Given the description of an element on the screen output the (x, y) to click on. 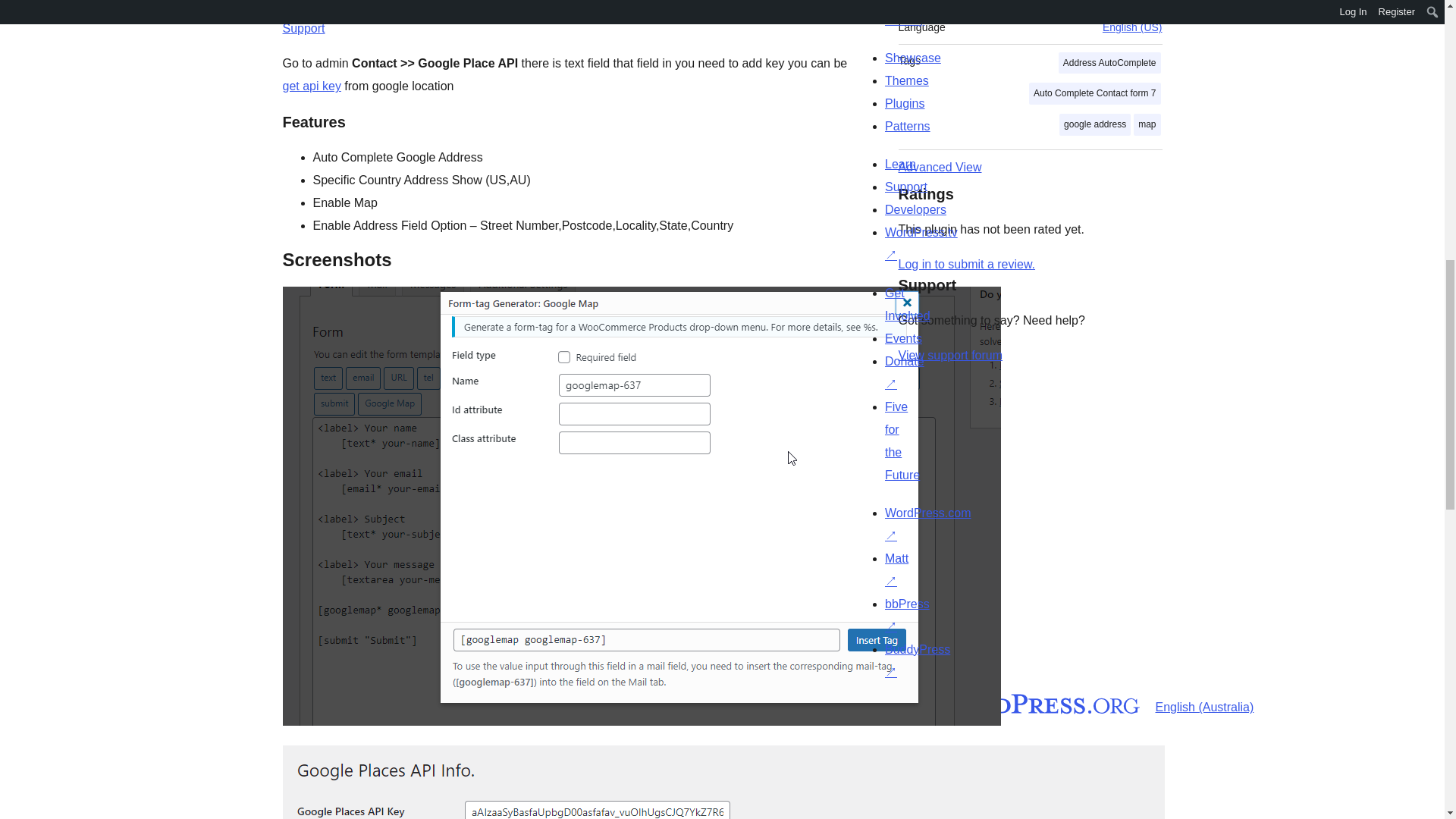
get api key (311, 85)
WordPress.org (1014, 703)
Support (303, 28)
Log in to WordPress.org (966, 264)
WordPress.org (864, 703)
